Given the description of an element on the screen output the (x, y) to click on. 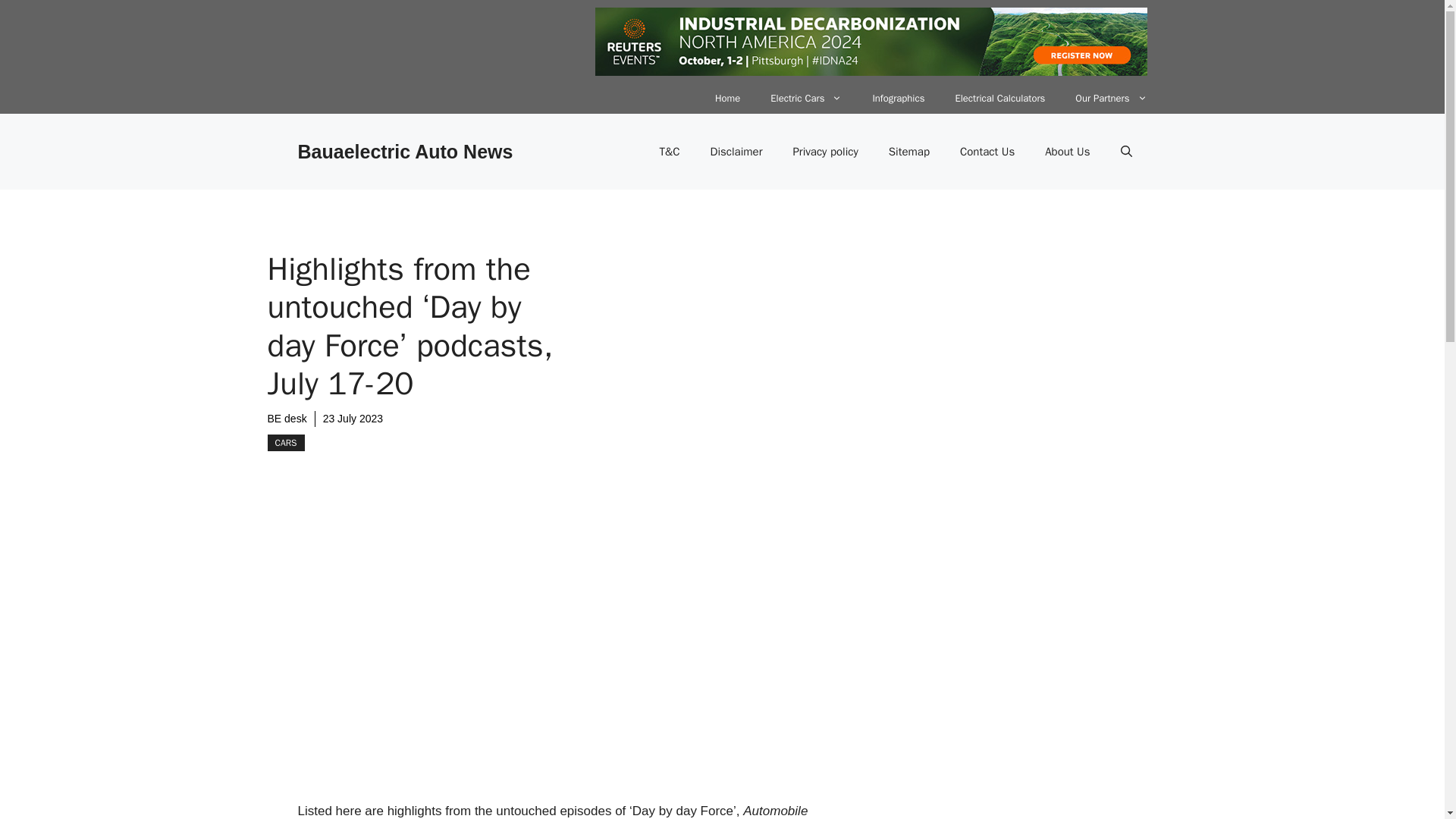
Advertisement (1027, 699)
Advertisement (600, 669)
Privacy policy (824, 151)
Electric Cars (806, 98)
Home (727, 98)
Sitemap (908, 151)
Electrical Calculators (999, 98)
Our Partners (1110, 98)
Infographics (898, 98)
Disclaimer (736, 151)
